Given the description of an element on the screen output the (x, y) to click on. 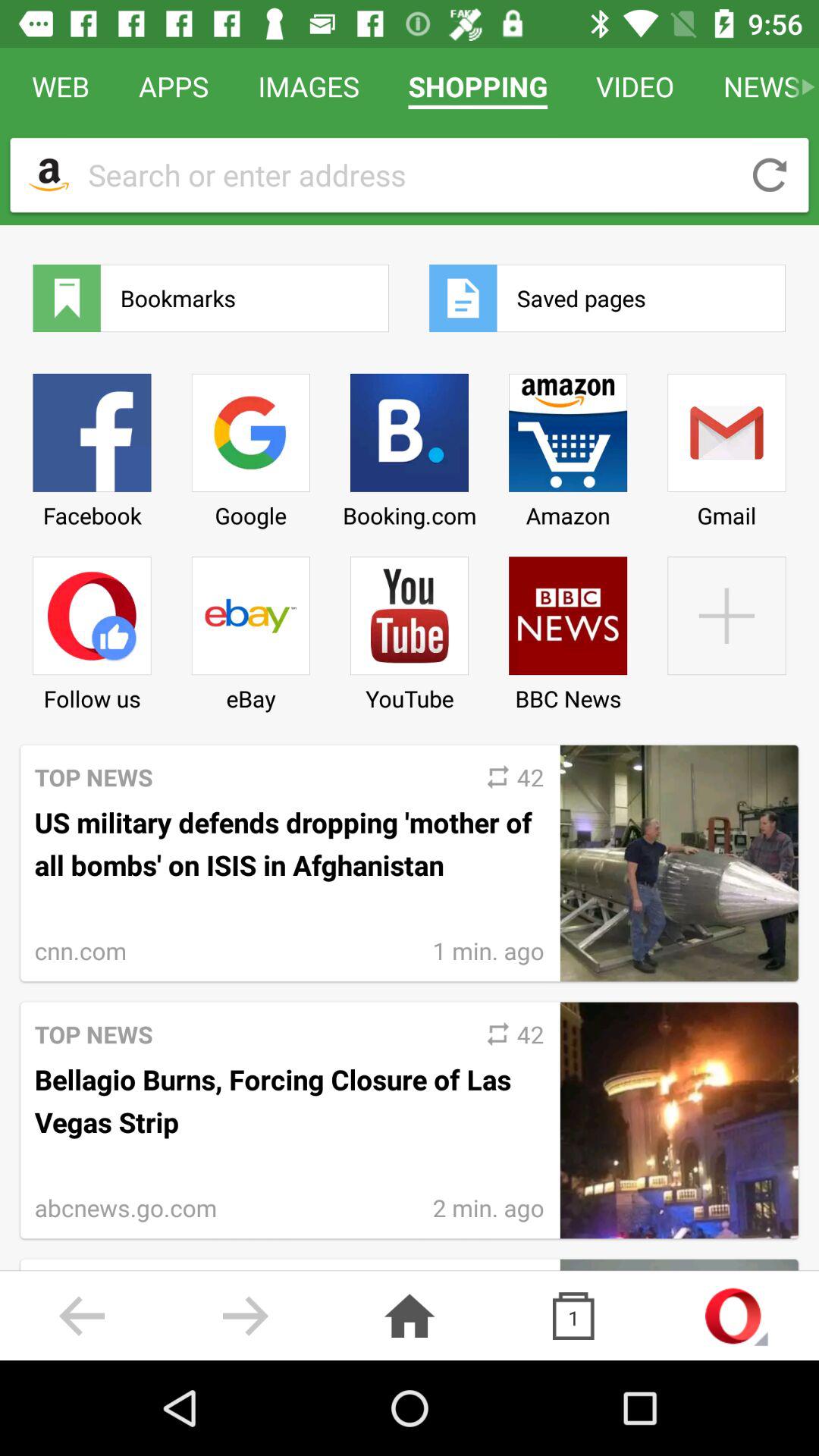
turn off icon next to the google item (409, 628)
